Given the description of an element on the screen output the (x, y) to click on. 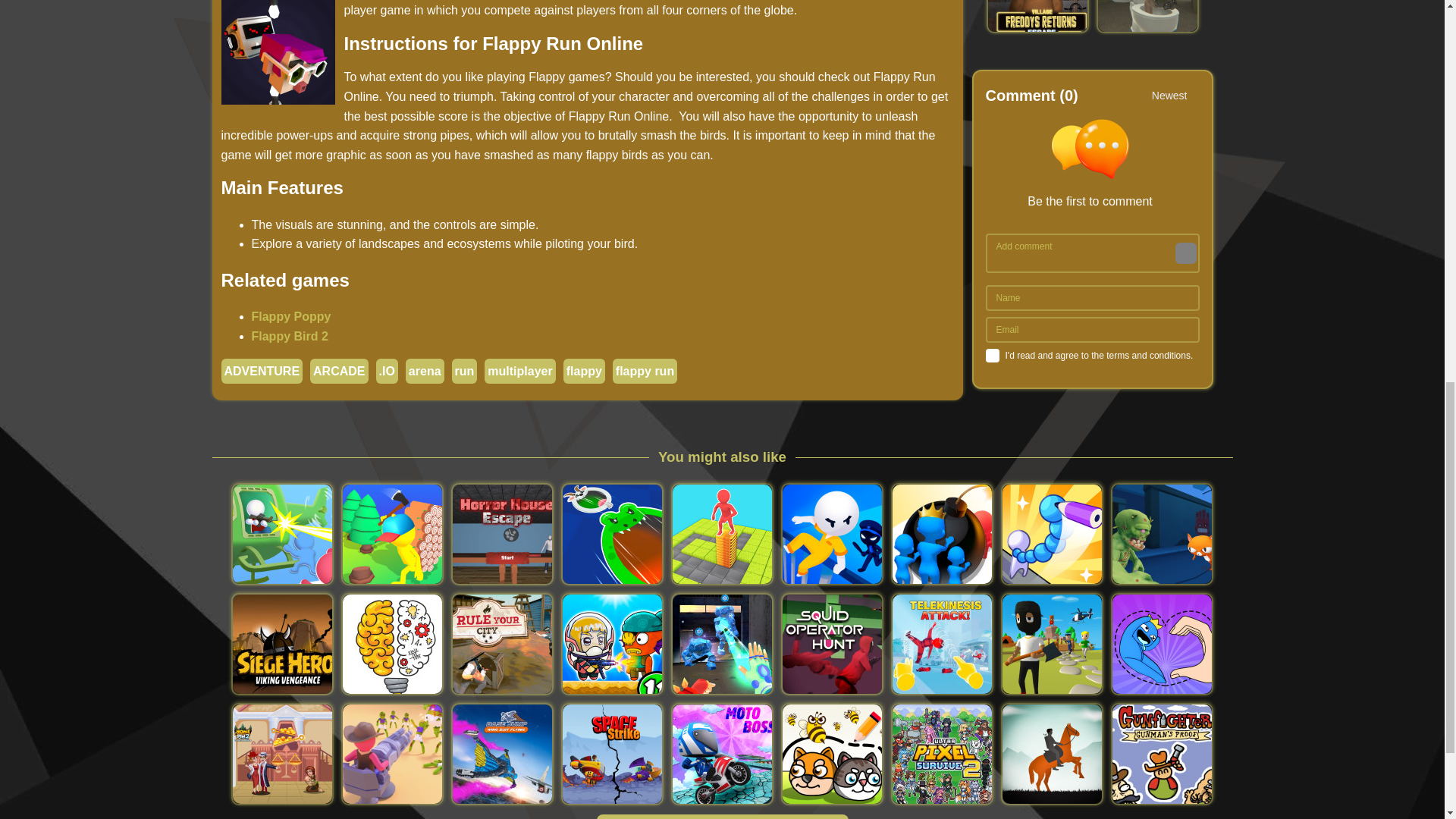
arena (425, 370)
Flappy Poppy (291, 316)
New Games (721, 816)
run (464, 370)
flappy run (644, 370)
Flappy Bird 2 (290, 336)
Be the first to comment (1096, 164)
ADVENTURE (261, 370)
flappy (584, 370)
multiplayer (519, 370)
ARCADE (339, 370)
